Given the description of an element on the screen output the (x, y) to click on. 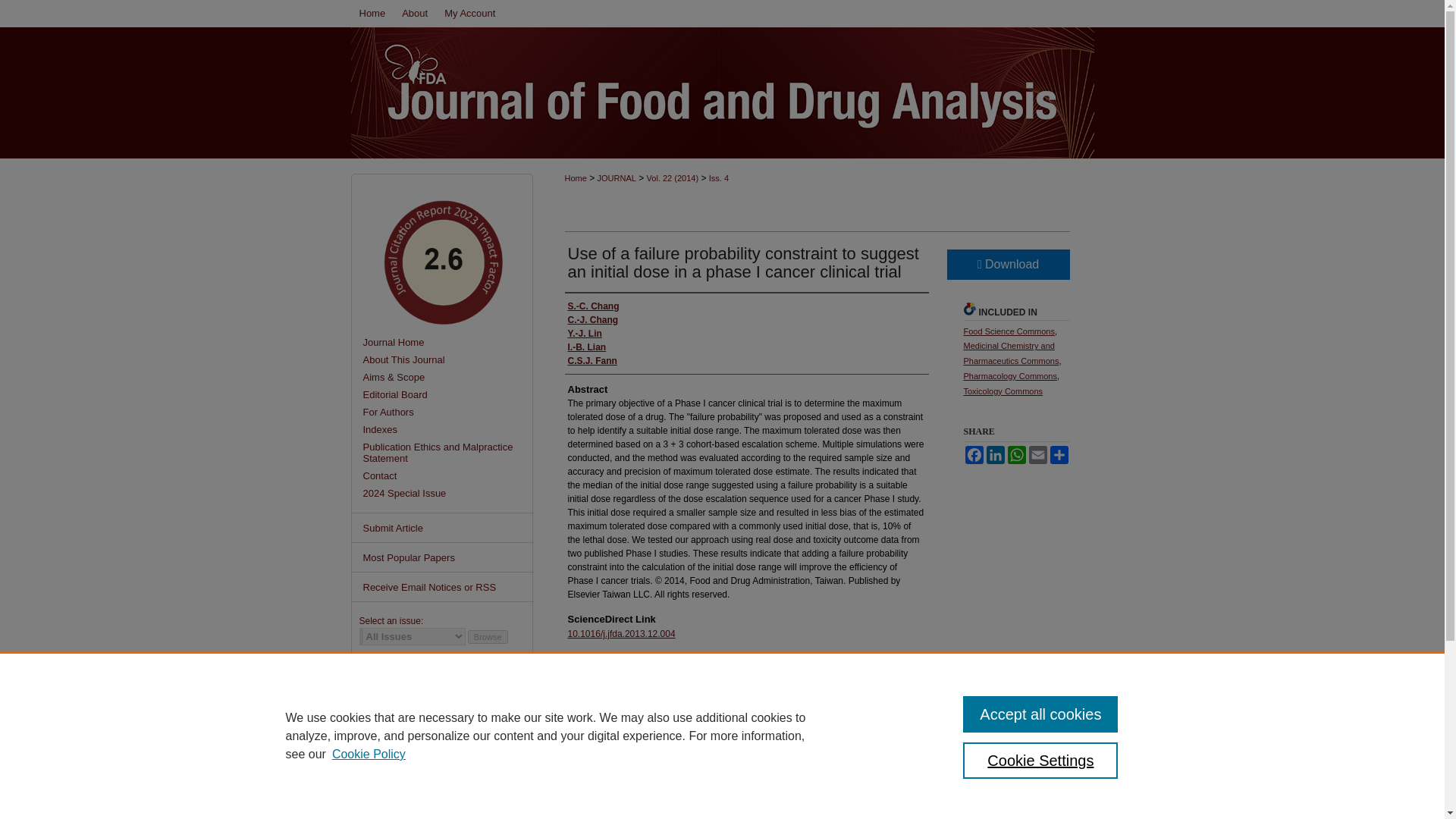
About This Journal (447, 359)
Home (575, 177)
S.-C. Chang (592, 305)
Browse (487, 636)
Home (371, 13)
I.-B. Lian (586, 346)
Journal of Food and Drug Analysis (447, 342)
Download (1007, 264)
Browse (487, 636)
Medicinal Chemistry and Pharmaceutics Commons (1010, 353)
JOURNAL (616, 177)
Search (497, 704)
C.S.J. Fann (591, 360)
Search (497, 704)
